Given the description of an element on the screen output the (x, y) to click on. 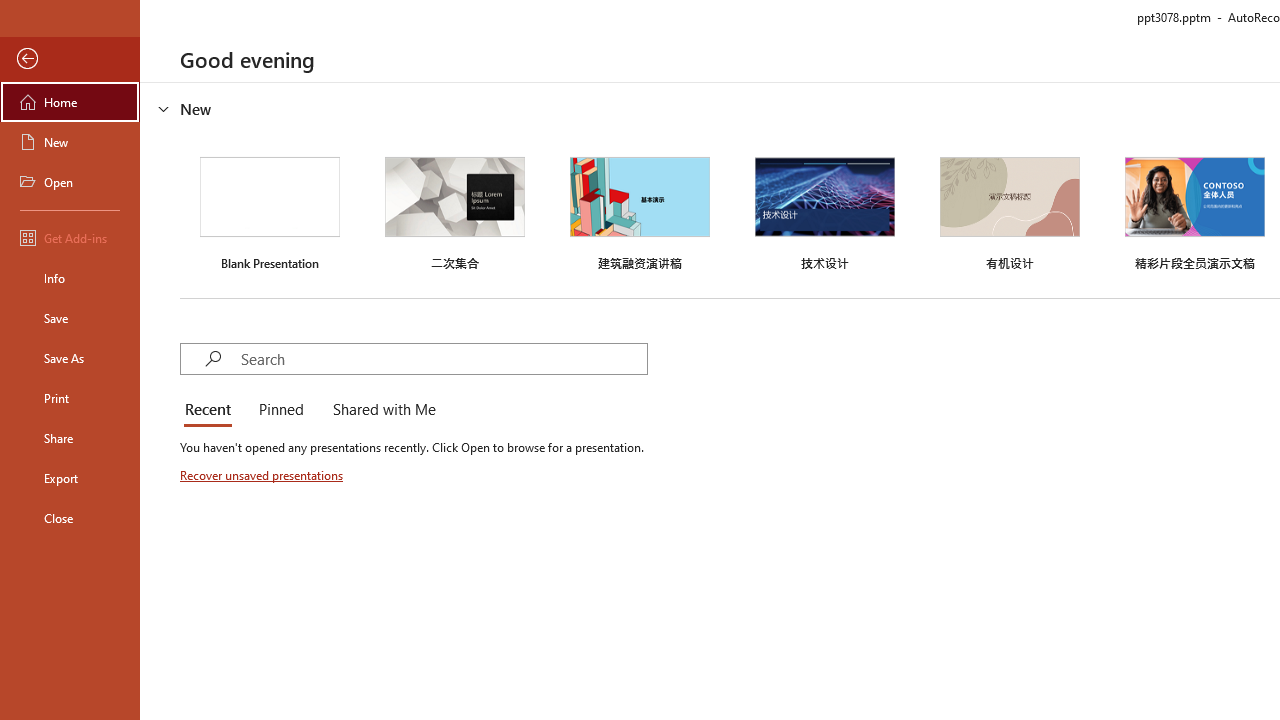
Recent (212, 410)
New (69, 141)
Hide or show region (164, 108)
Back (69, 59)
Export (69, 477)
Save As (69, 357)
